Given the description of an element on the screen output the (x, y) to click on. 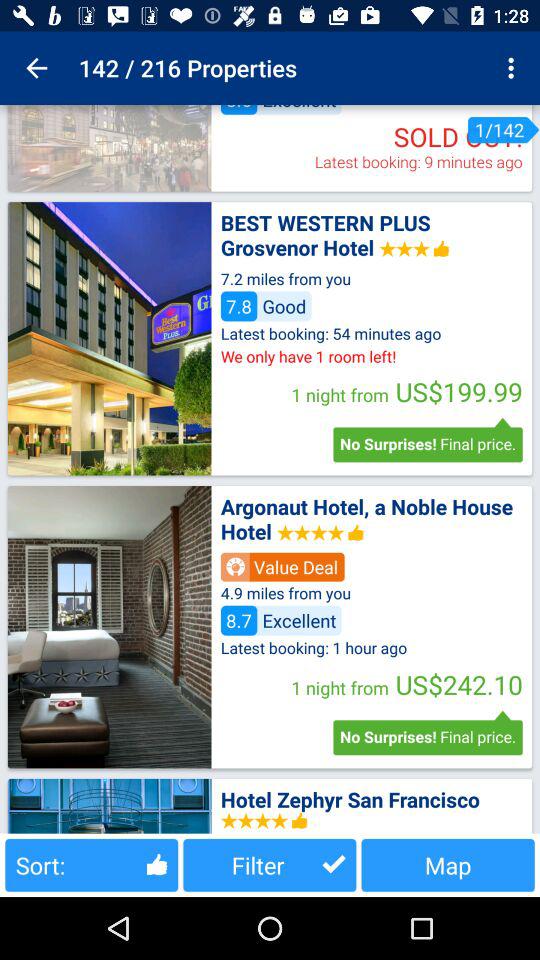
launch button next to the sort:  item (269, 864)
